Given the description of an element on the screen output the (x, y) to click on. 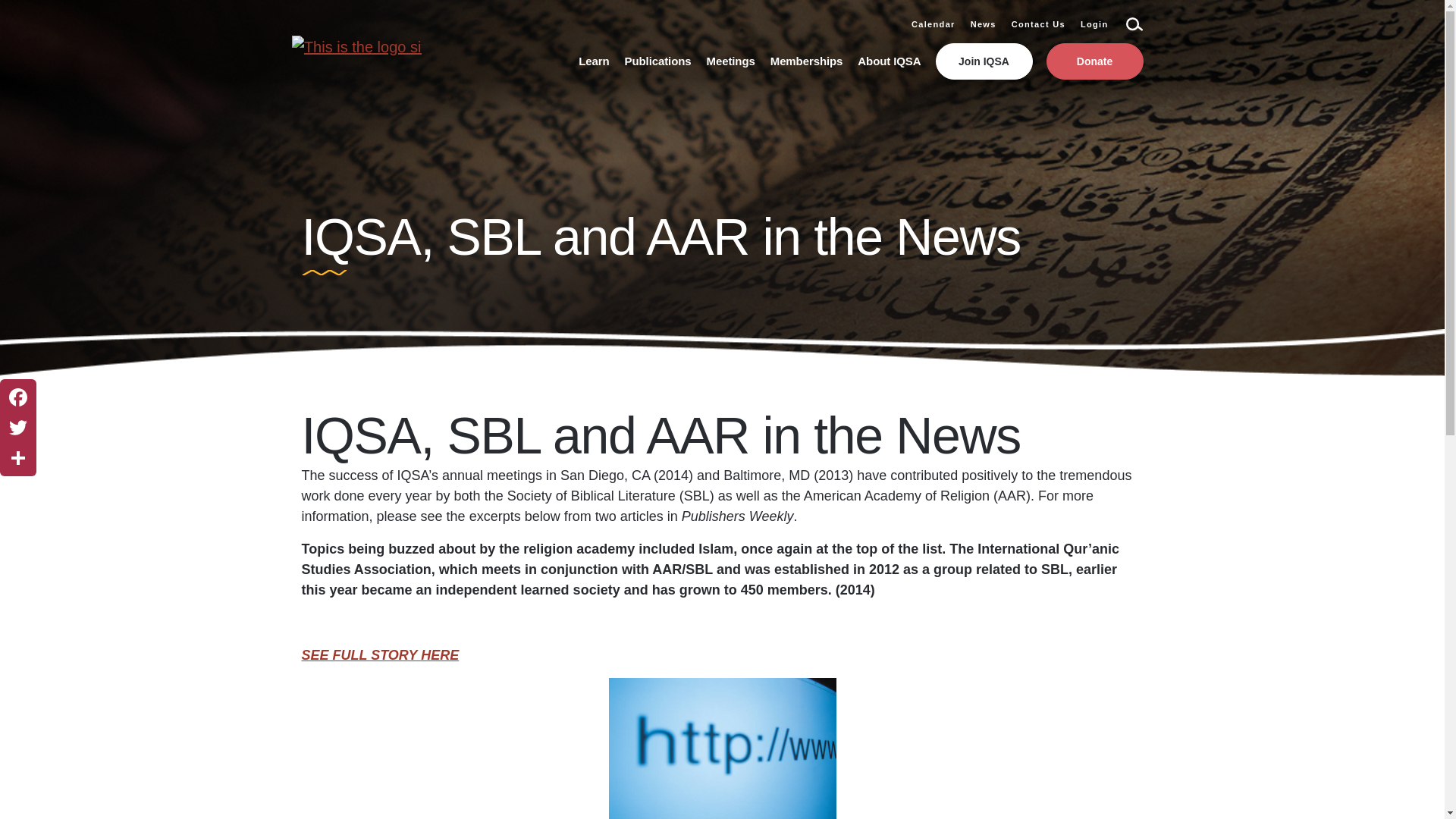
Publications (657, 61)
Memberships (806, 61)
SEE FULL STORY HERE (380, 654)
Contact Us (1038, 23)
About IQSA (888, 61)
Join IQSA (984, 61)
Calendar (933, 23)
Publications (657, 61)
Donate (1094, 61)
Login (1094, 23)
Memberships (806, 61)
News (983, 23)
